Given the description of an element on the screen output the (x, y) to click on. 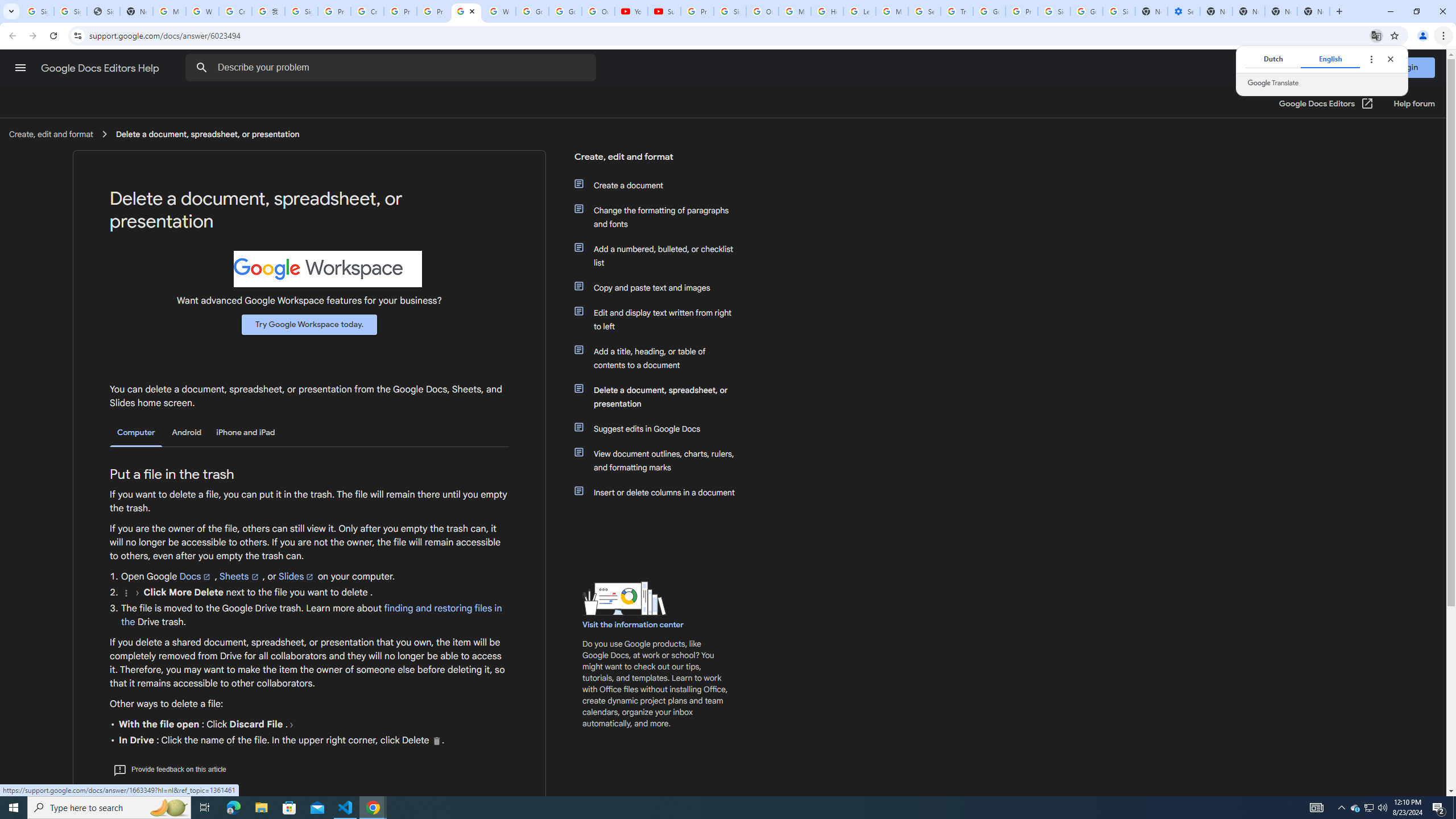
Add a numbered, bulleted, or checklist list (661, 255)
Create a document (661, 185)
and then (290, 724)
To delete (436, 740)
Translate options (1370, 58)
Search the Help Center (201, 67)
Help forum (1414, 103)
Who is my administrator? - Google Account Help (202, 11)
